Given the description of an element on the screen output the (x, y) to click on. 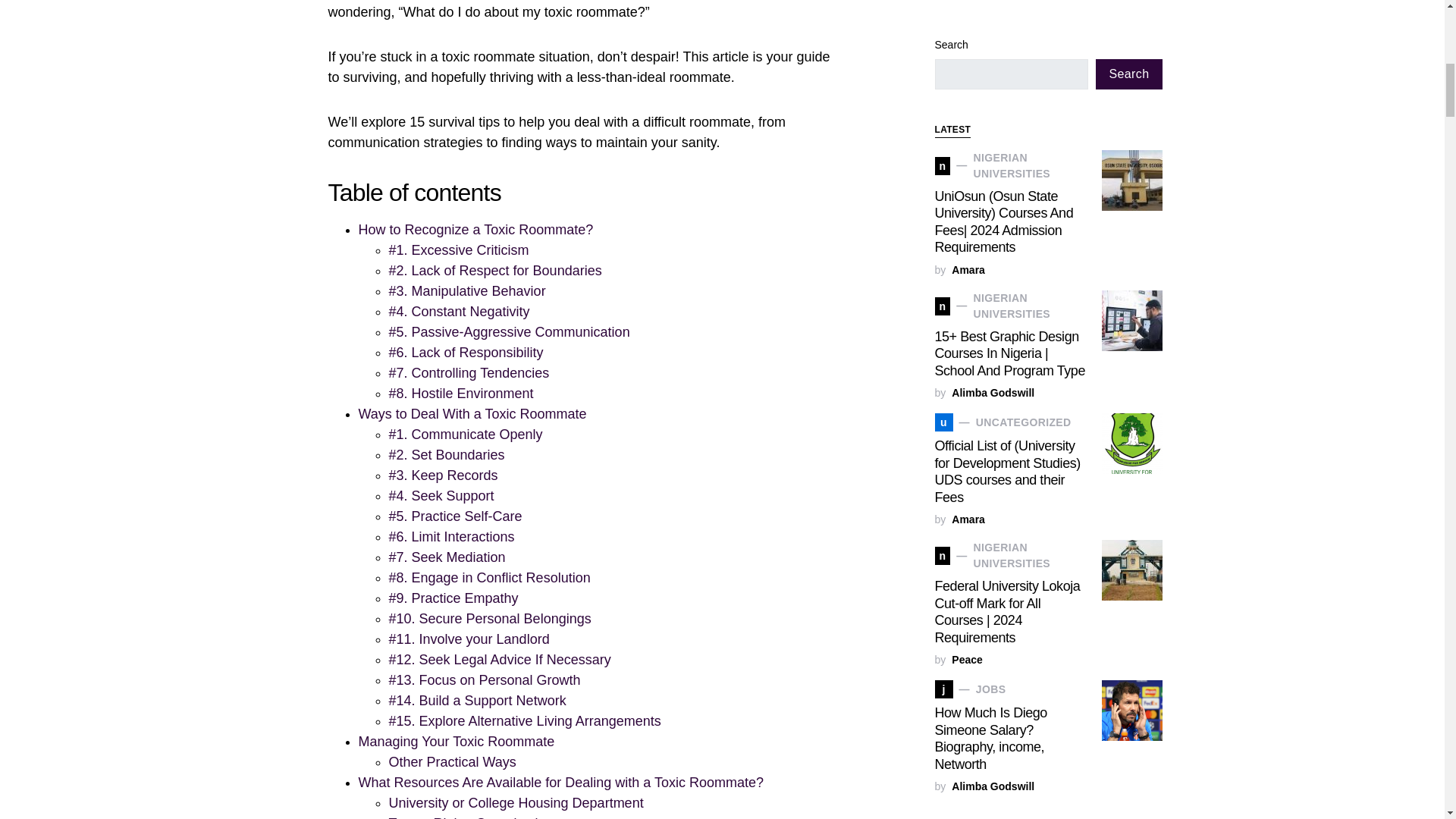
View all posts by Alimba Godswill (992, 26)
Ways to Deal With a Toxic Roommate (472, 413)
How to Recognize a Toxic Roommate? (475, 229)
